Given the description of an element on the screen output the (x, y) to click on. 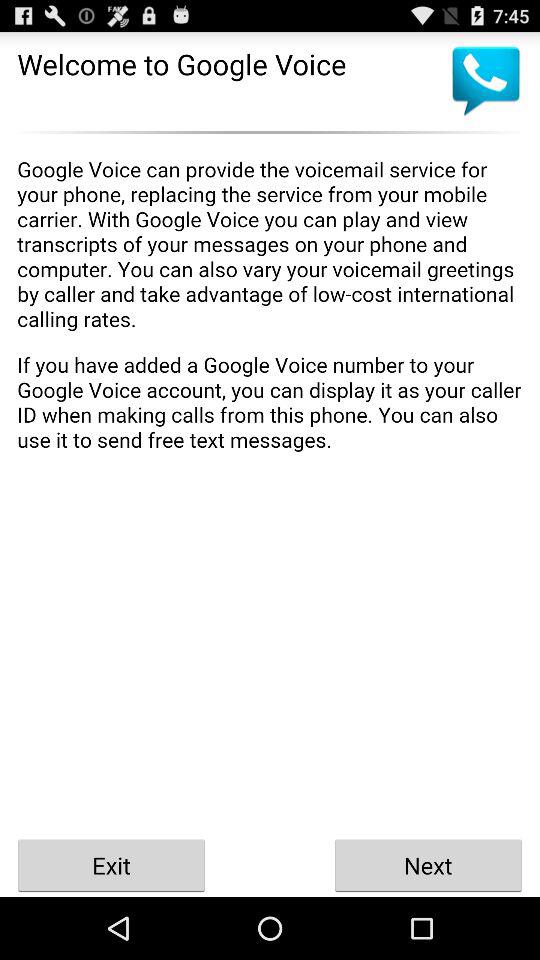
scroll to the exit button (111, 864)
